Given the description of an element on the screen output the (x, y) to click on. 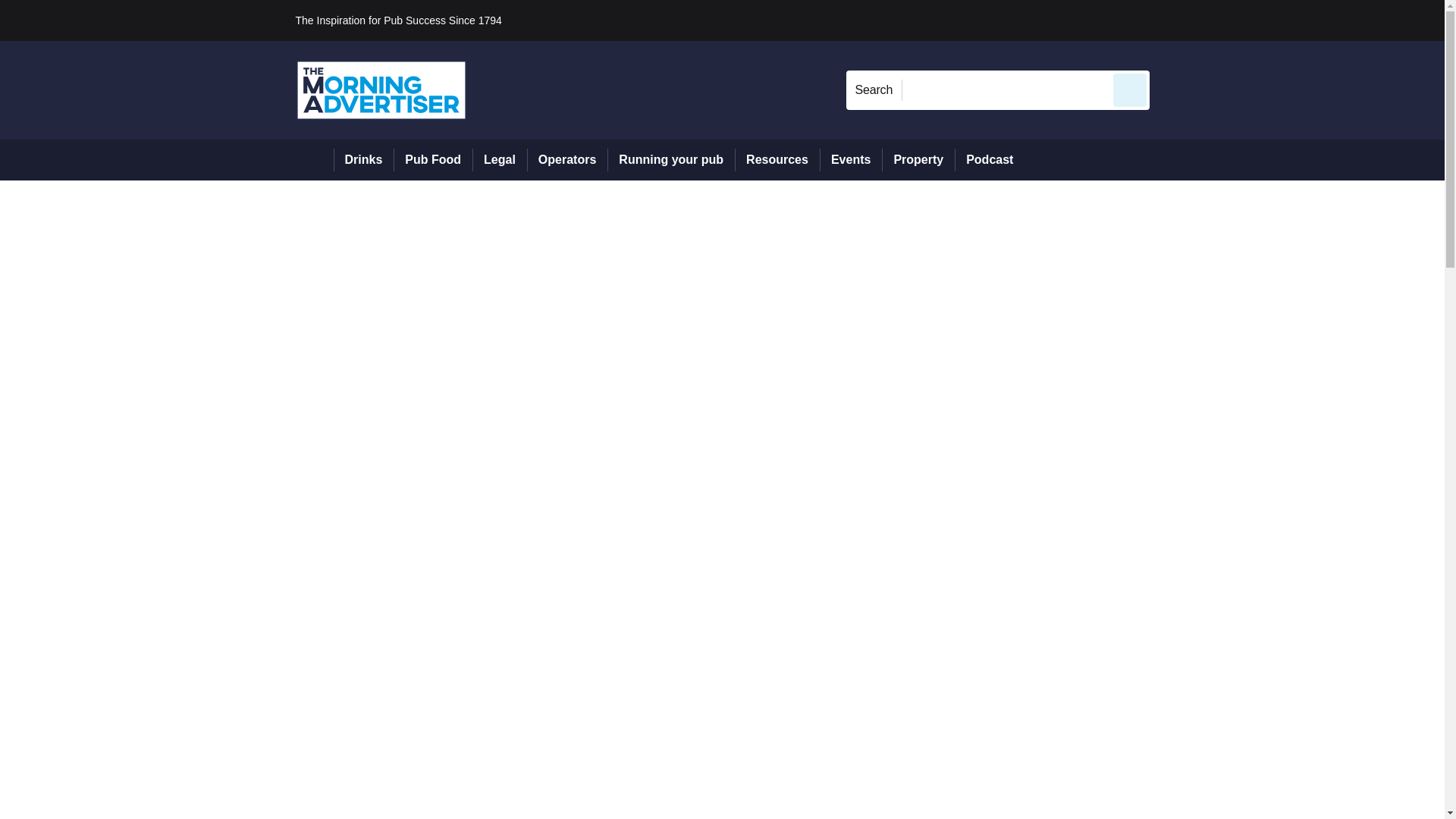
Sign out (1174, 20)
REGISTER (1250, 20)
Pub Food (432, 159)
Home (313, 159)
Send (1129, 90)
Legal (499, 159)
My account (1256, 20)
Home (314, 159)
Sign in (1171, 20)
The Morning Advertiser (381, 89)
